Given the description of an element on the screen output the (x, y) to click on. 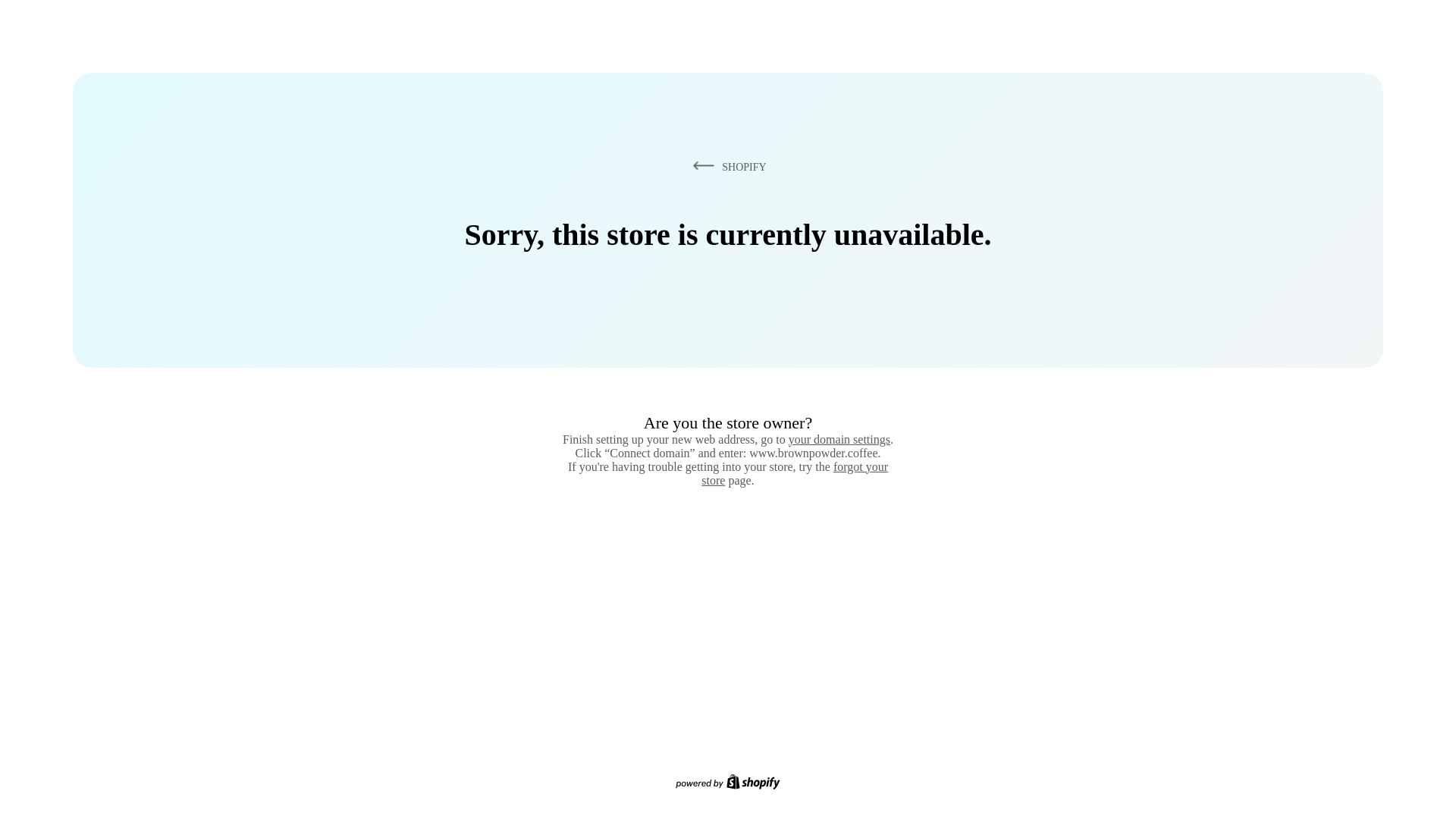
SHOPIFY (726, 166)
forgot your store (794, 473)
your domain settings (839, 439)
